Given the description of an element on the screen output the (x, y) to click on. 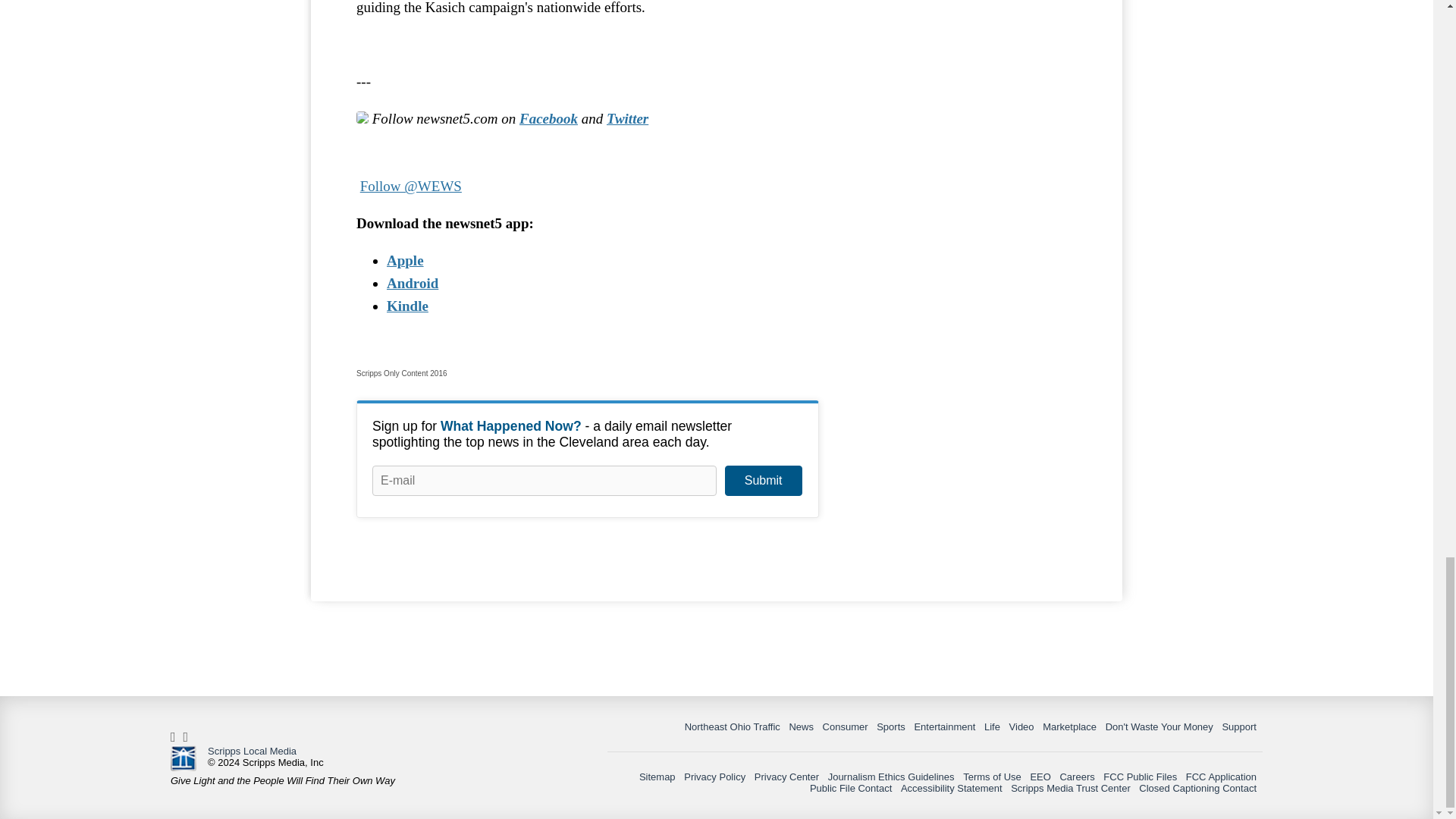
Submit (763, 481)
